Given the description of an element on the screen output the (x, y) to click on. 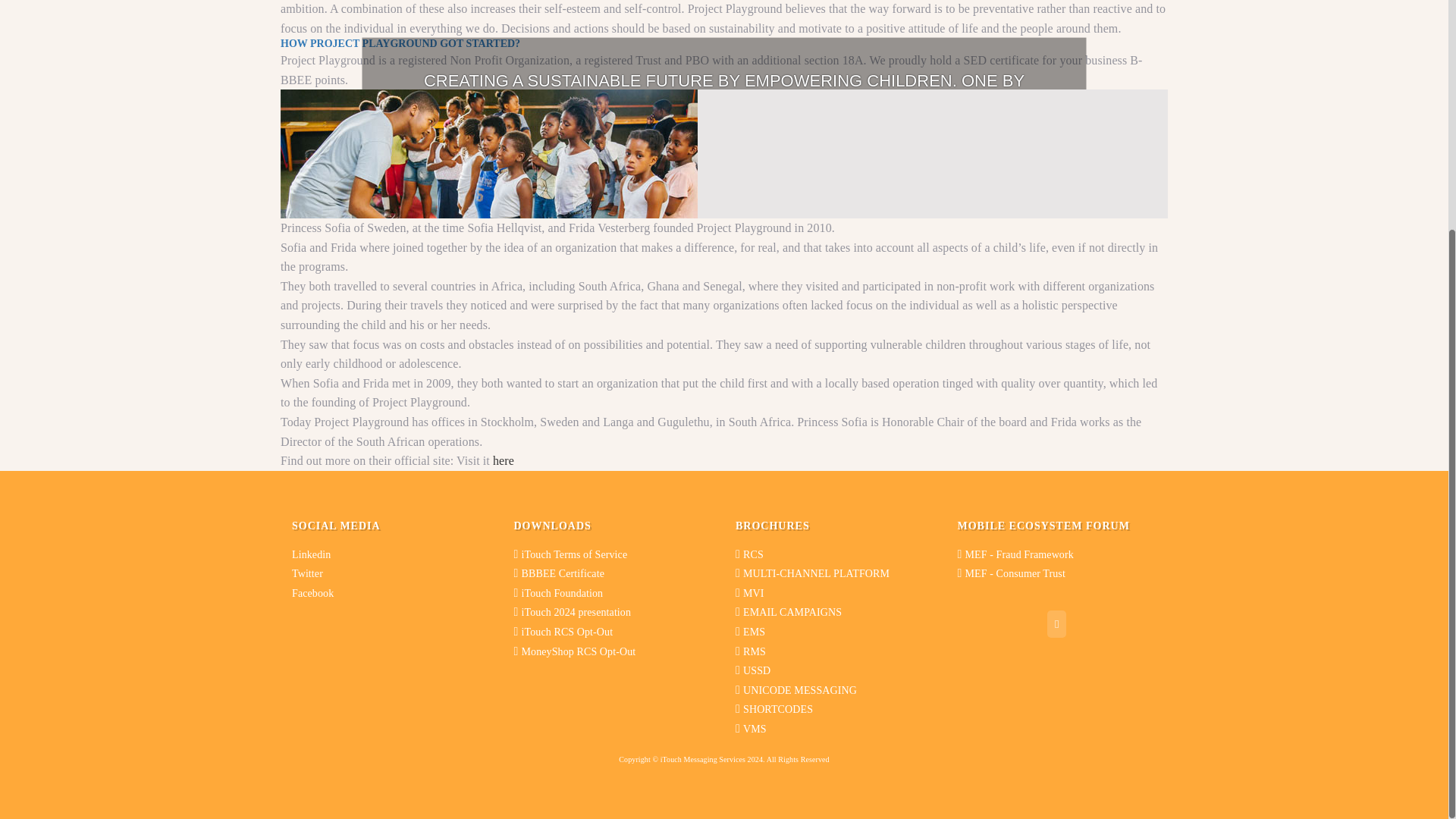
here (503, 460)
iTouch Terms of Service (574, 554)
Twitter (307, 573)
BBBEE Certificate (562, 573)
Linkedin (311, 554)
Facebook (312, 593)
iTouch Foundation (562, 593)
